Given the description of an element on the screen output the (x, y) to click on. 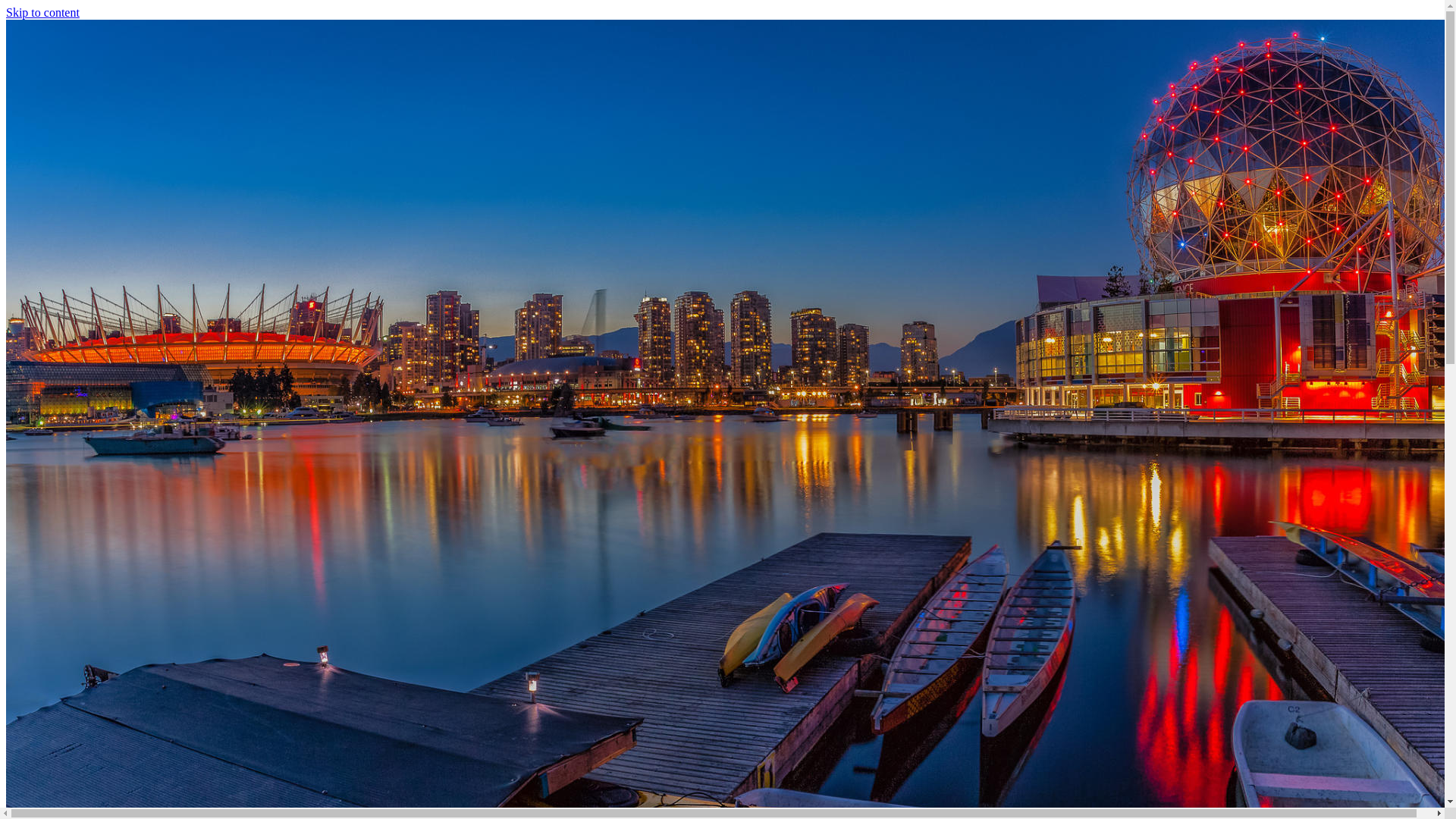
Skip to content Element type: text (42, 12)
